Given the description of an element on the screen output the (x, y) to click on. 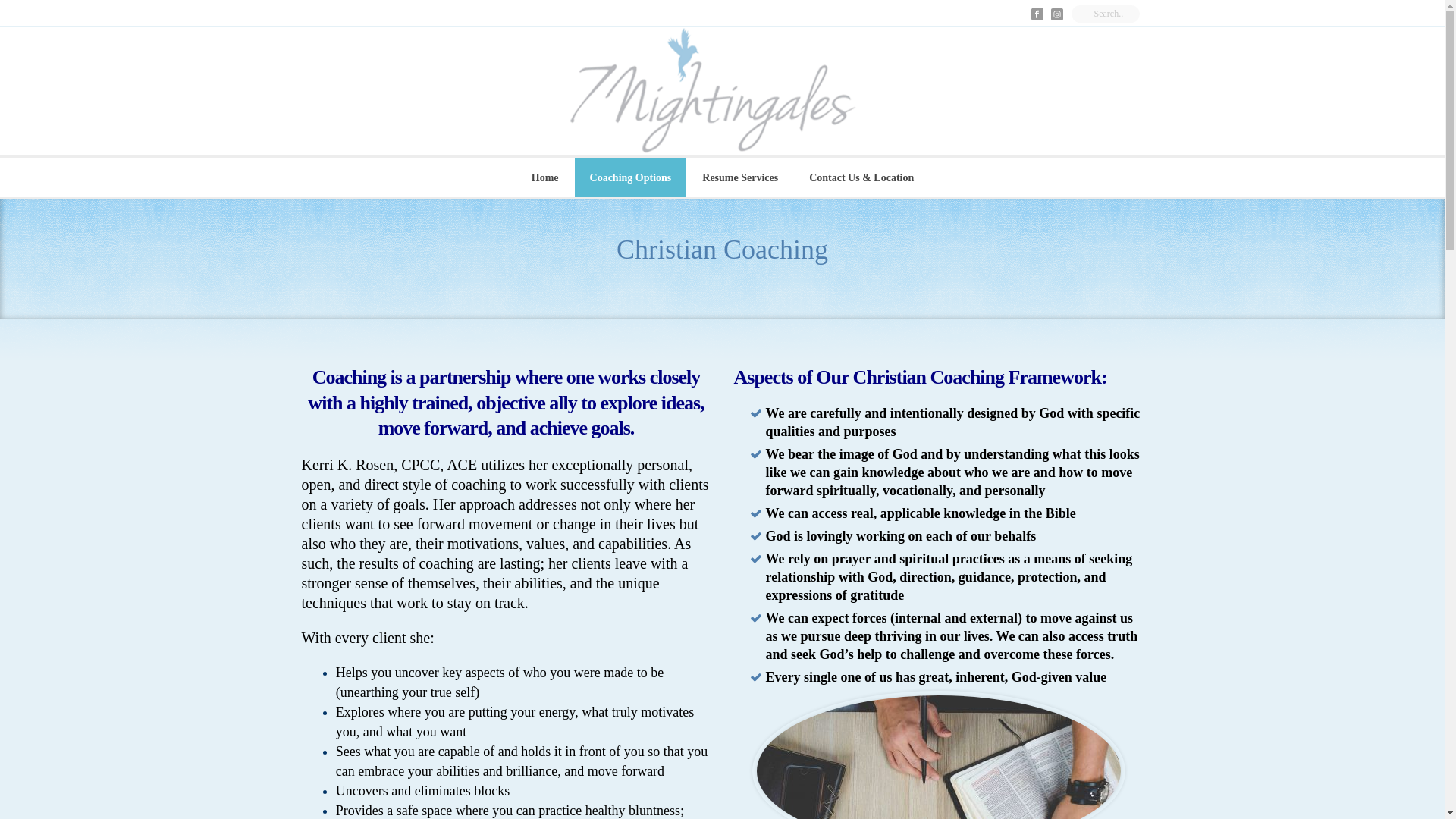
Home (544, 177)
Resume Services (740, 177)
Home (544, 177)
Coaching Options (631, 177)
7 Nightingales (722, 90)
Coaching Options (631, 177)
Resume Services (740, 177)
